Given the description of an element on the screen output the (x, y) to click on. 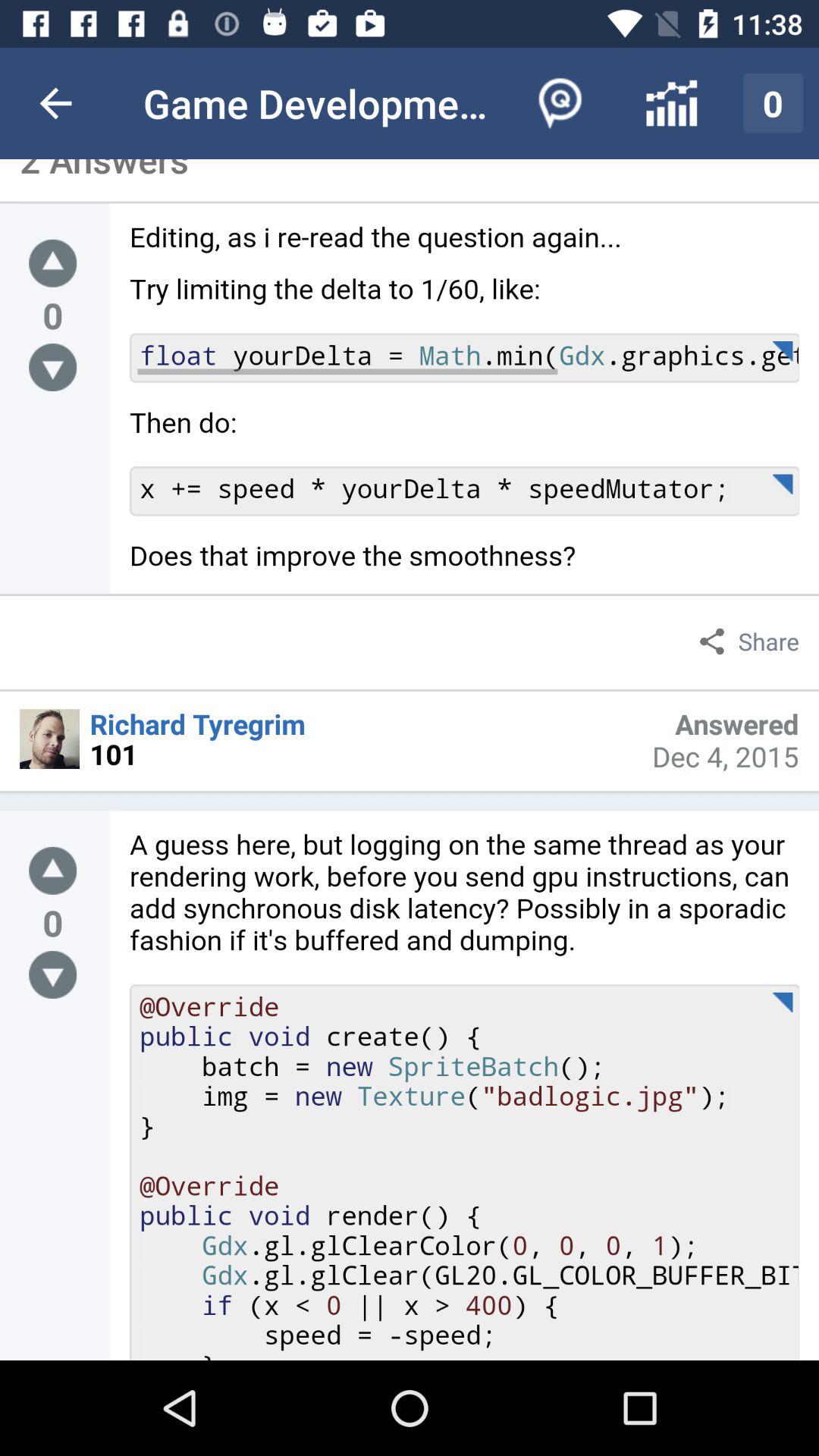
answers page (464, 408)
